Given the description of an element on the screen output the (x, y) to click on. 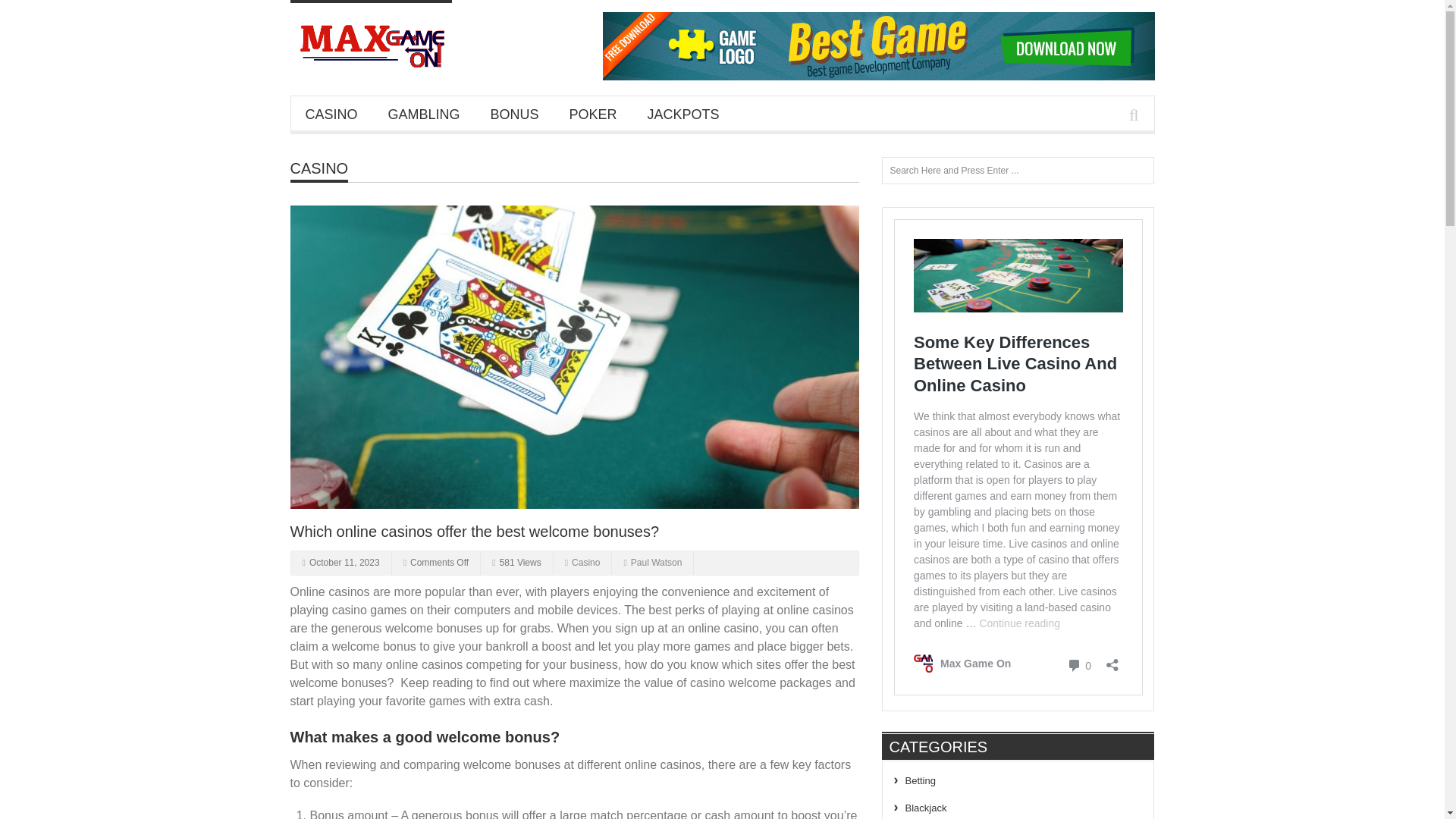
CASINO (318, 167)
CASINO (330, 113)
Search Here and Press Enter ... (1017, 170)
Posts by Paul Watson (656, 562)
BONUS (515, 113)
Casino (585, 562)
Paul Watson (656, 562)
Blackjack (926, 808)
POKER (592, 113)
JACKPOTS (683, 113)
GAMBLING (424, 113)
Casino (318, 167)
Betting (920, 780)
